Given the description of an element on the screen output the (x, y) to click on. 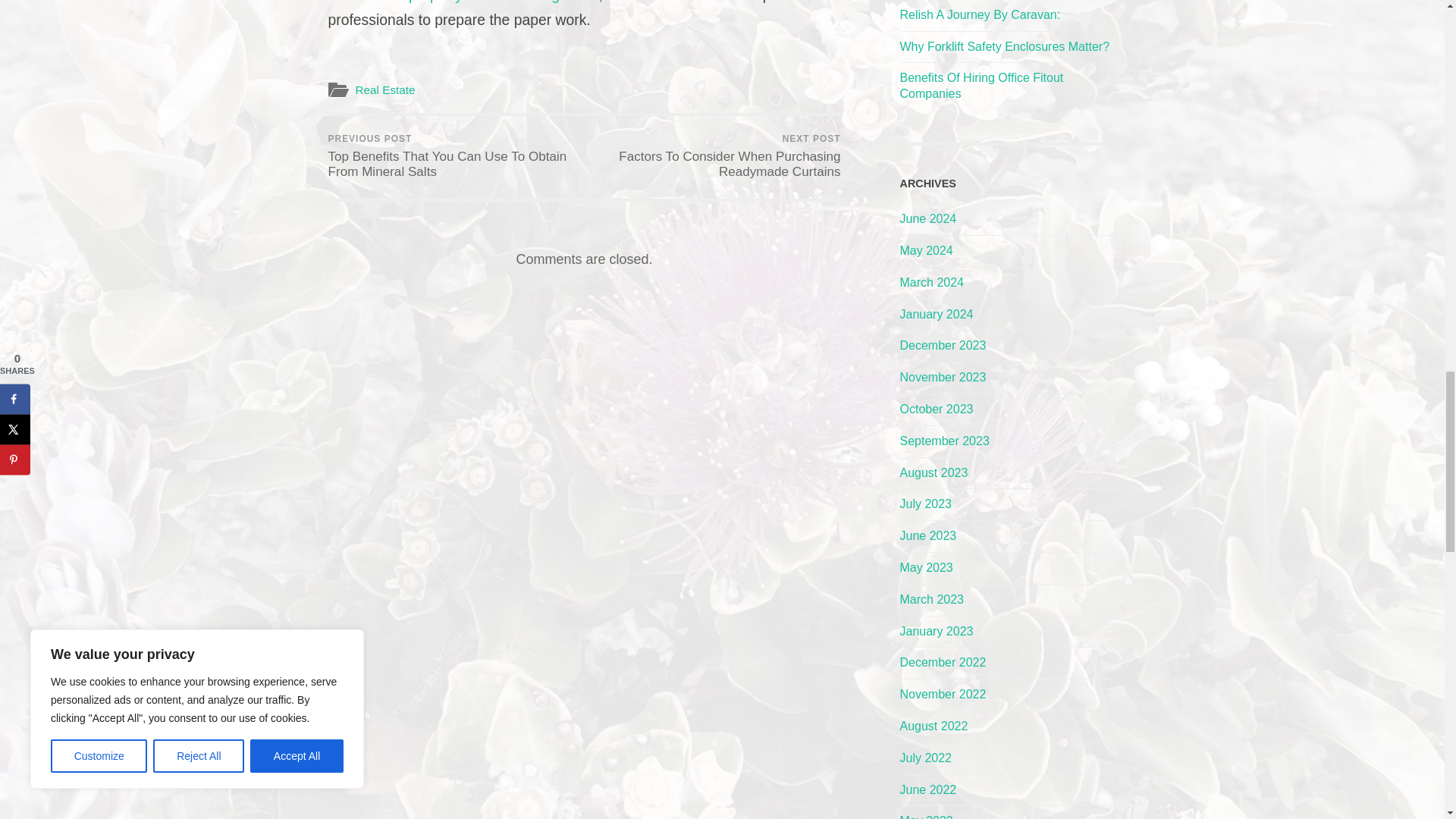
Next post: (714, 157)
Real Estate (384, 89)
property land in Bendigo (488, 1)
